Given the description of an element on the screen output the (x, y) to click on. 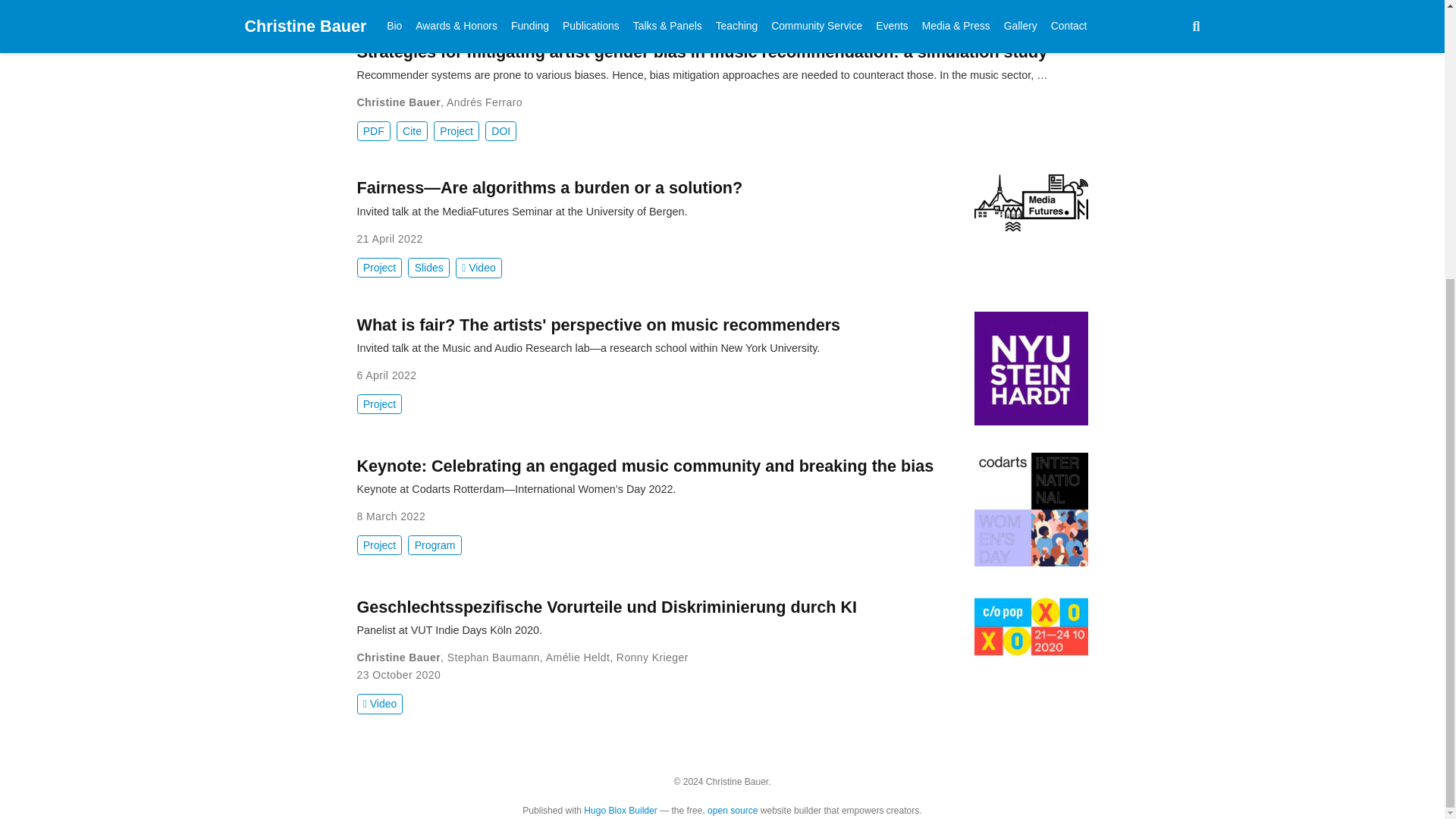
Project (378, 267)
PDF (373, 130)
Project (378, 2)
What is fair? The artists' perspective on music recommenders (598, 324)
Cite (412, 130)
Slides (428, 267)
DOI (500, 130)
Video (478, 267)
Project (456, 130)
Project (378, 403)
